Given the description of an element on the screen output the (x, y) to click on. 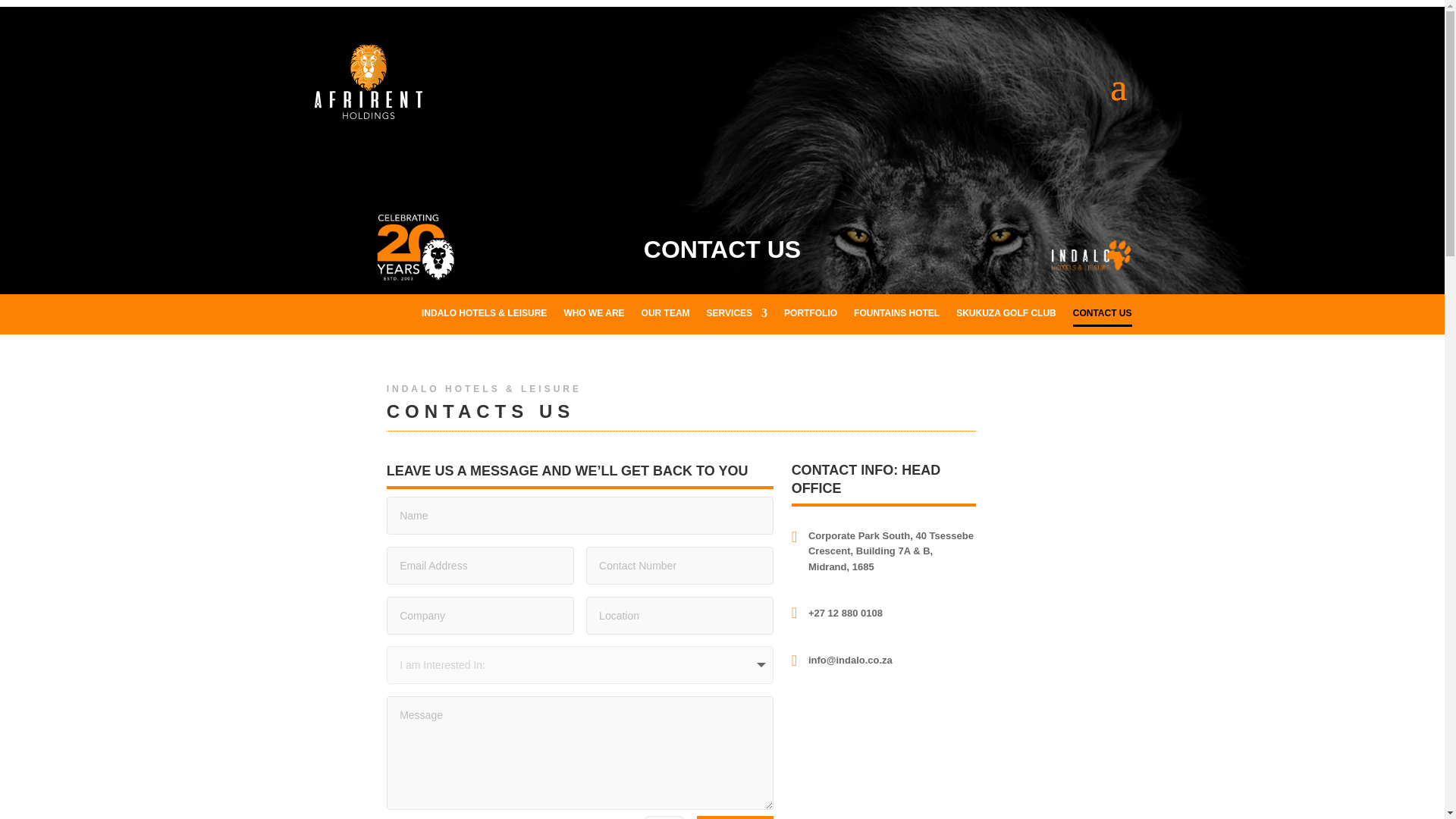
afrirent-logo-white2 (368, 83)
Afrirent-Birthday-Logo-WhiteOrangex300 (415, 247)
